Given the description of an element on the screen output the (x, y) to click on. 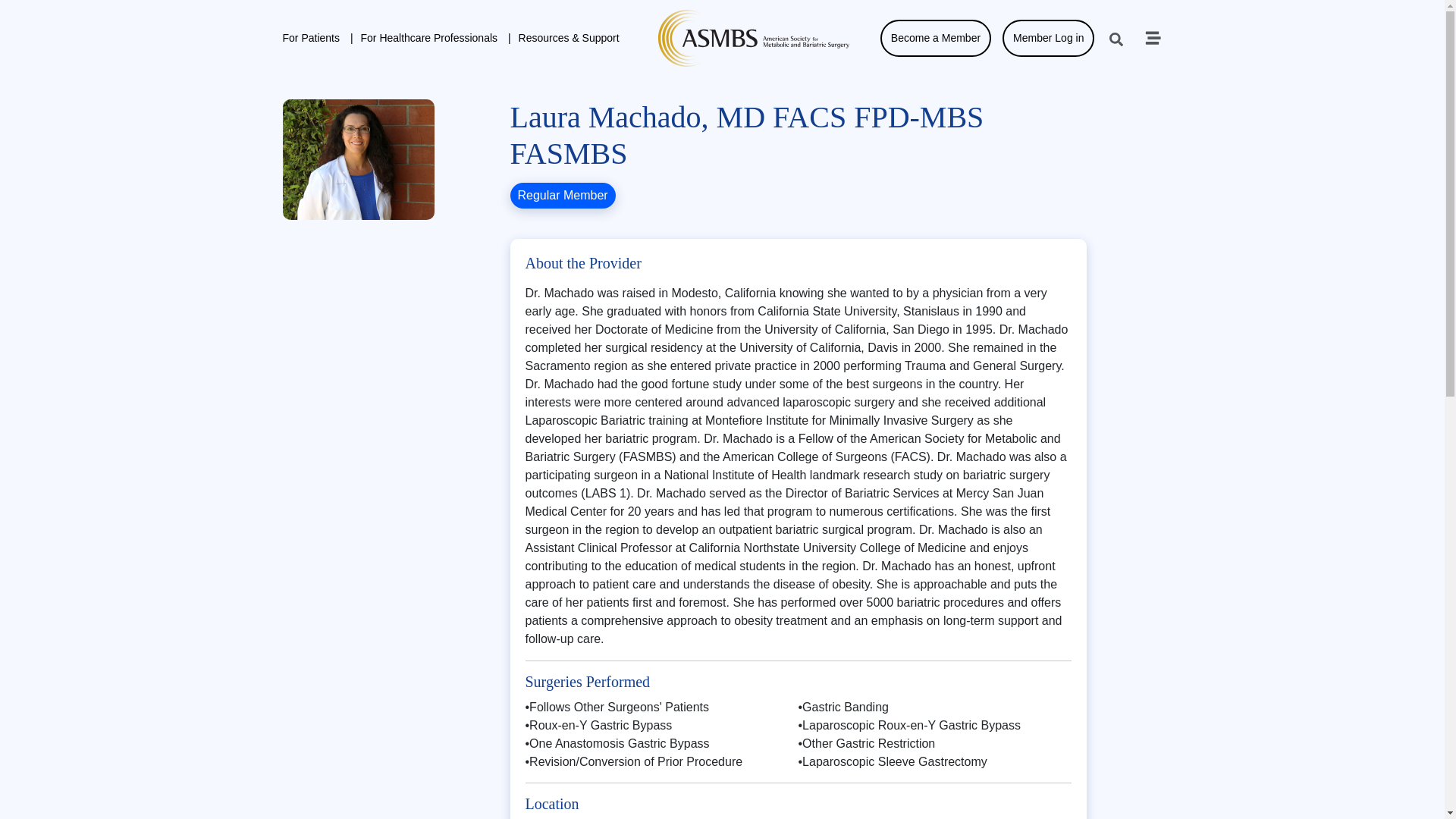
For Healthcare Professionals (432, 38)
search (1116, 38)
search (1115, 38)
Member Log in (1048, 37)
Become a Member (935, 37)
For Patients (317, 38)
